Given the description of an element on the screen output the (x, y) to click on. 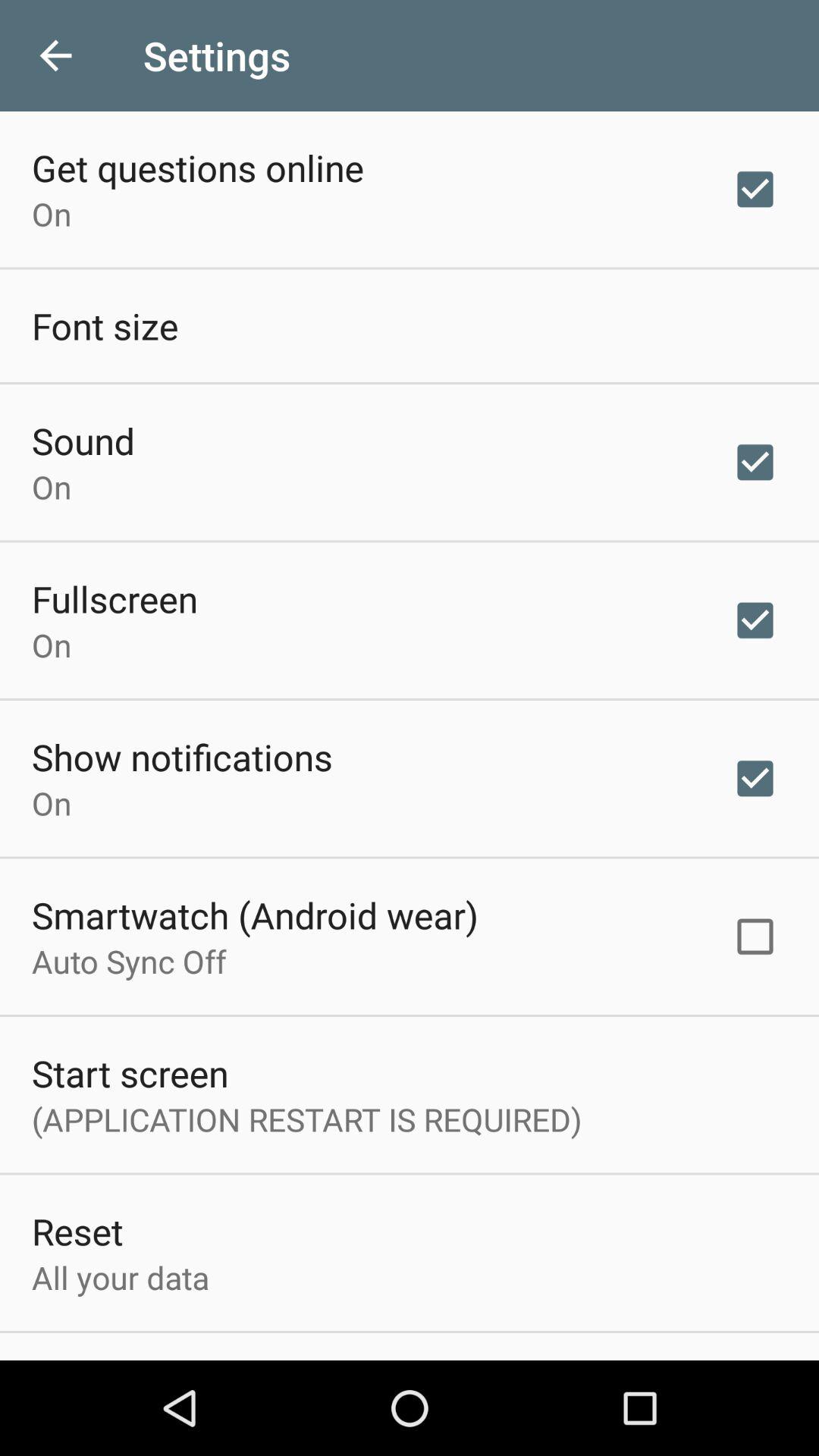
swipe to auto sync off item (128, 960)
